Given the description of an element on the screen output the (x, y) to click on. 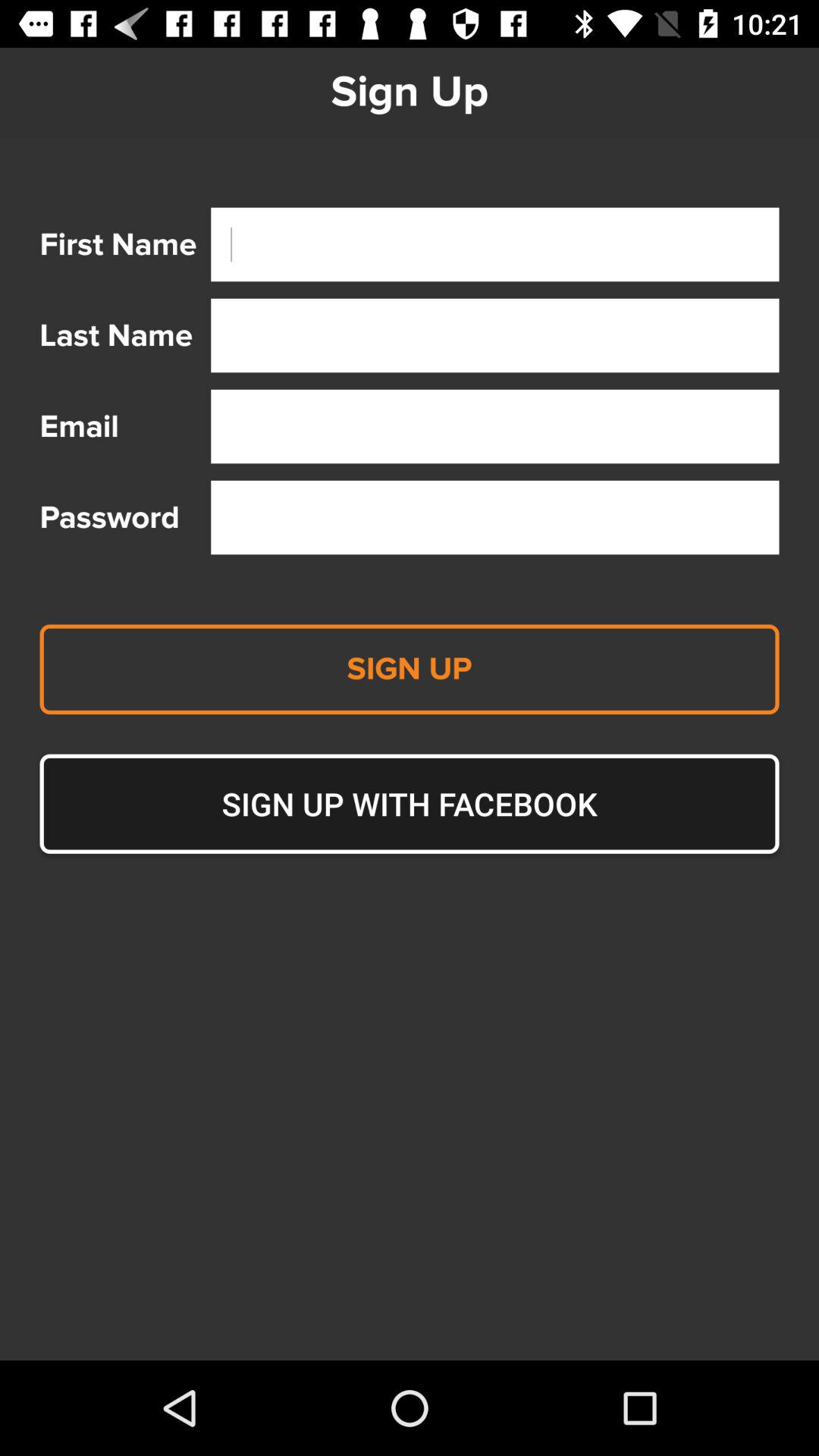
select icon next to the password icon (495, 517)
